Given the description of an element on the screen output the (x, y) to click on. 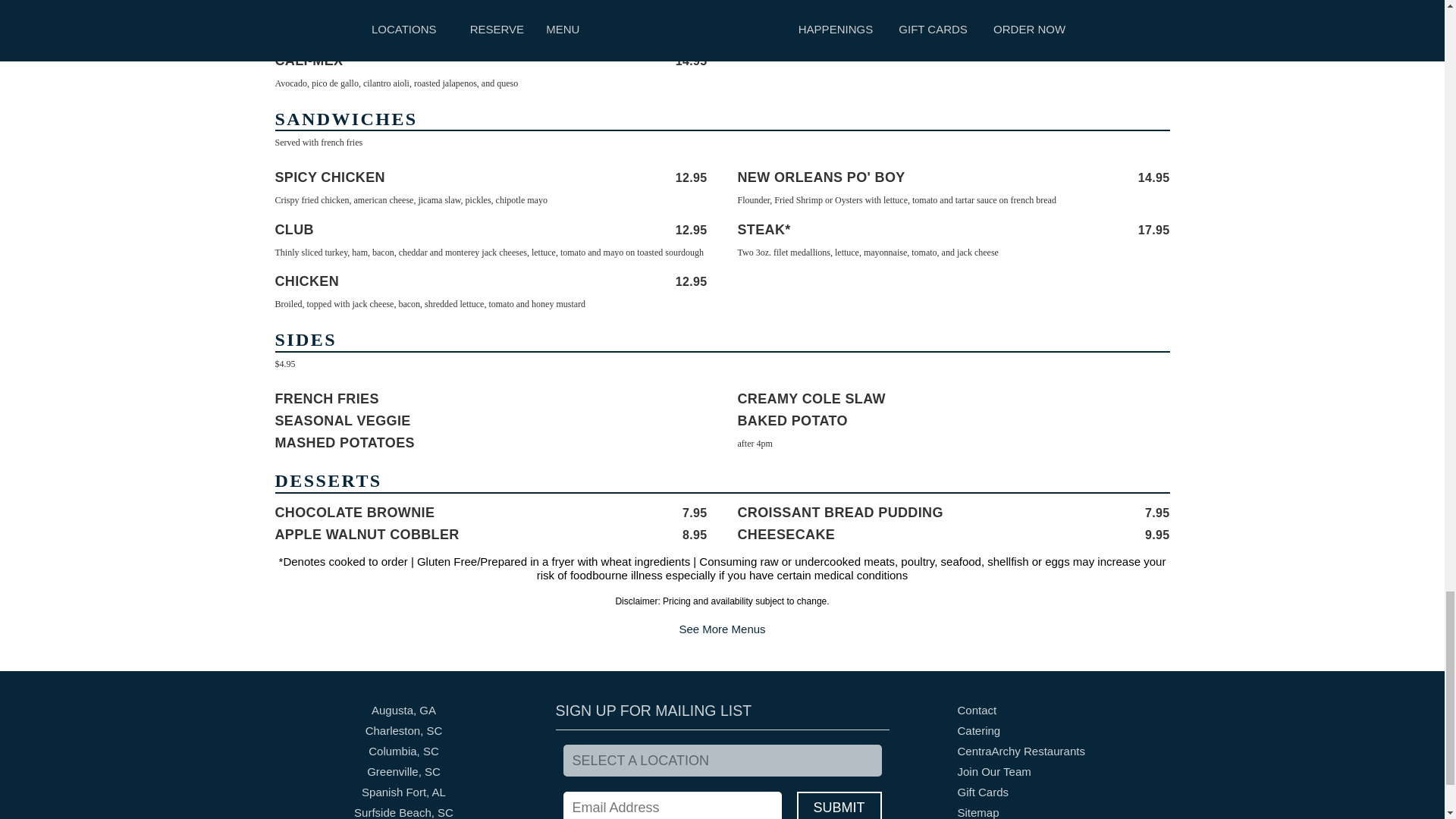
SUBMIT (838, 805)
